Given the description of an element on the screen output the (x, y) to click on. 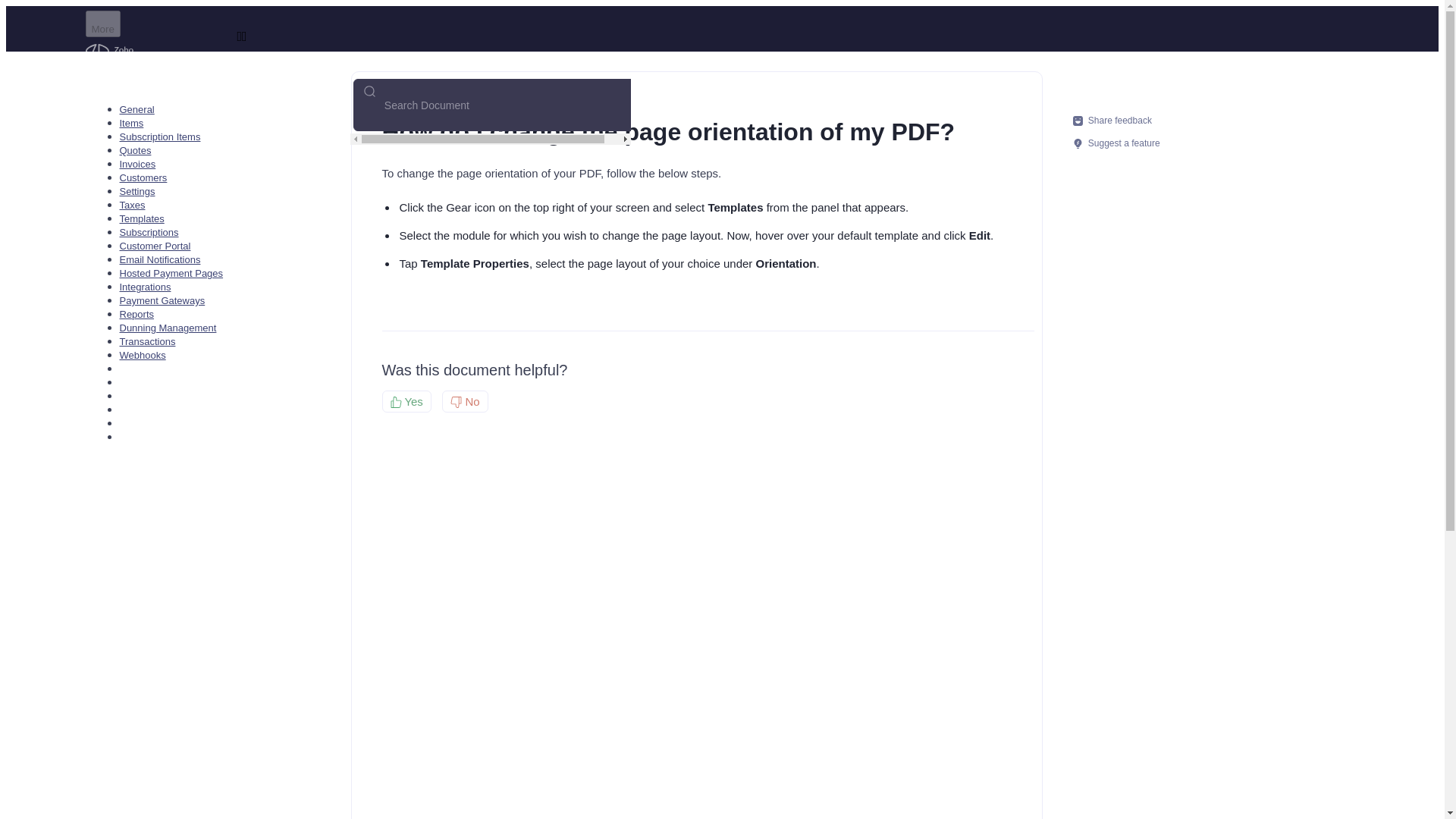
Items (131, 122)
Transactions (147, 341)
Suggest a feature (1114, 142)
General (136, 108)
Reports (136, 313)
Email Notifications (159, 259)
Customer Portal (154, 245)
Invoices (137, 163)
Print this page (1003, 120)
Webhooks (142, 354)
Templates (141, 218)
Quotes (135, 149)
Taxes (132, 204)
Customers (143, 177)
Share feedback (1114, 119)
